Given the description of an element on the screen output the (x, y) to click on. 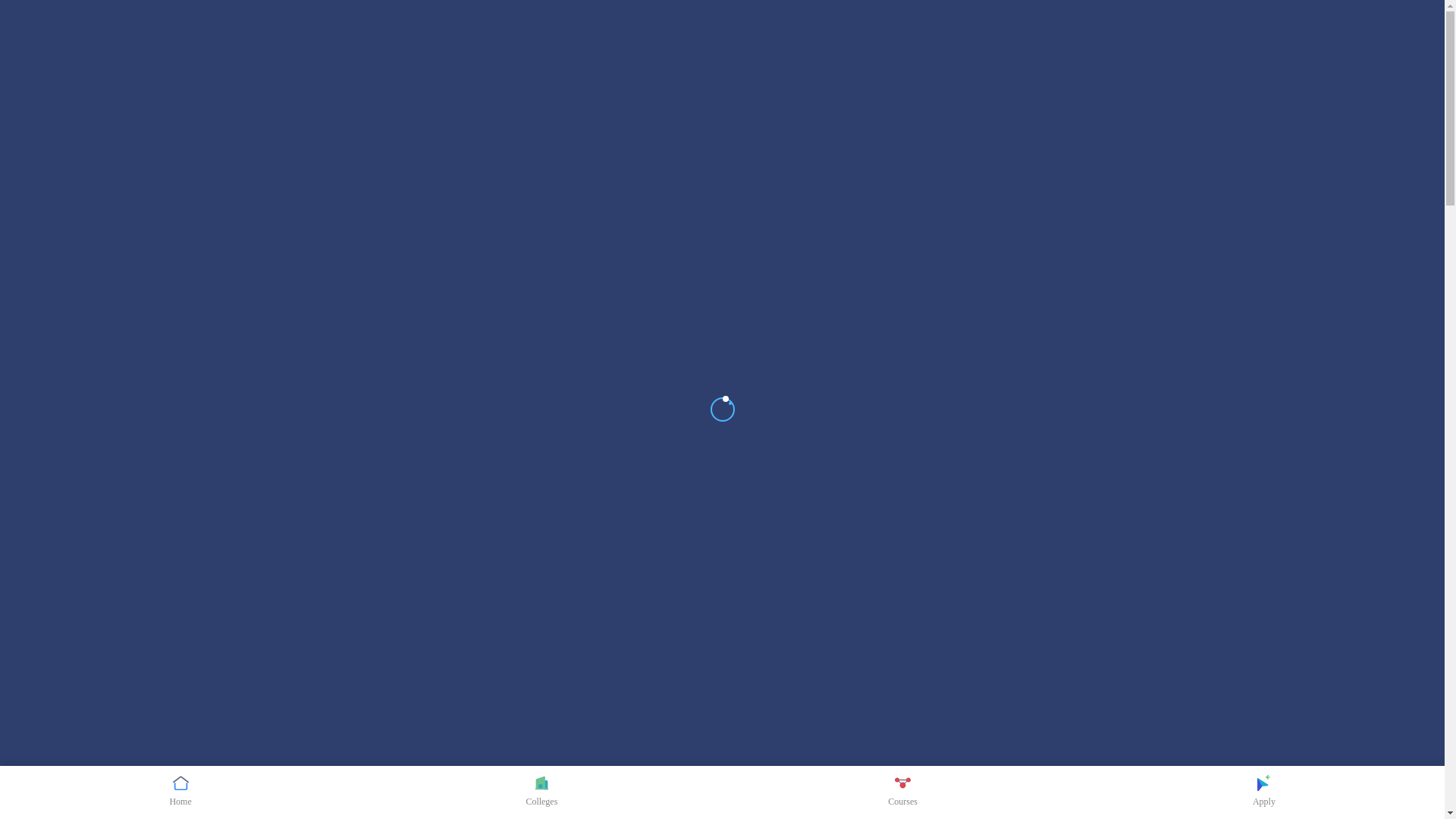
Start search (452, 122)
Home (180, 791)
Colleges (541, 791)
Courses (902, 791)
